Given the description of an element on the screen output the (x, y) to click on. 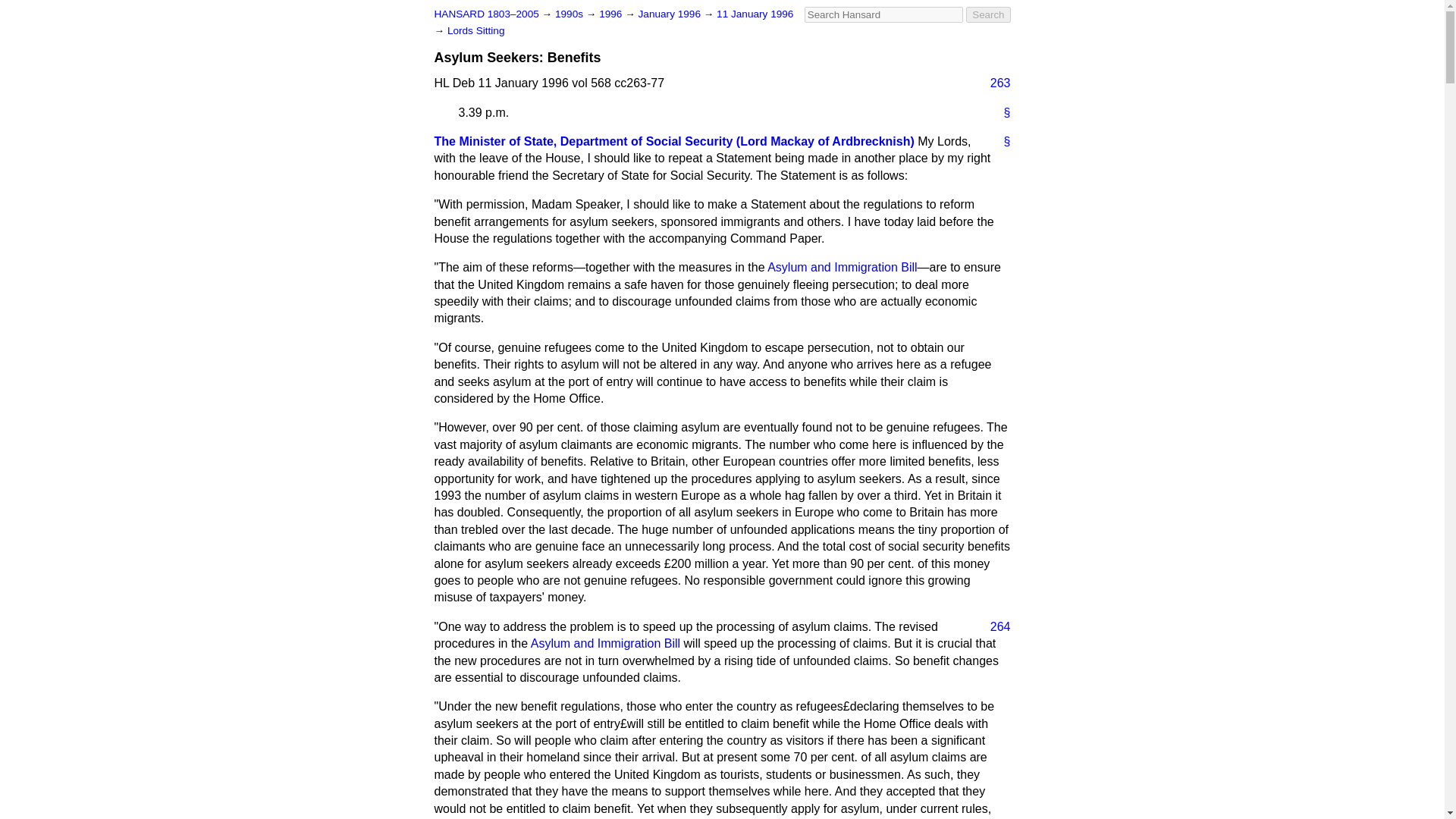
Search (988, 14)
Lords Sitting (475, 30)
Access key: S (883, 14)
Asylum and Immigration Bill (842, 267)
1990s (570, 13)
Link to this contribution (1000, 112)
Search (988, 14)
263 (994, 83)
Link to this speech by Mr John Mackay (1000, 141)
11 January 1996 (754, 13)
January 1996 (671, 13)
264 (994, 627)
Asylum and Immigration Bill (605, 643)
Mr John Mackay (673, 141)
1996 (611, 13)
